Given the description of an element on the screen output the (x, y) to click on. 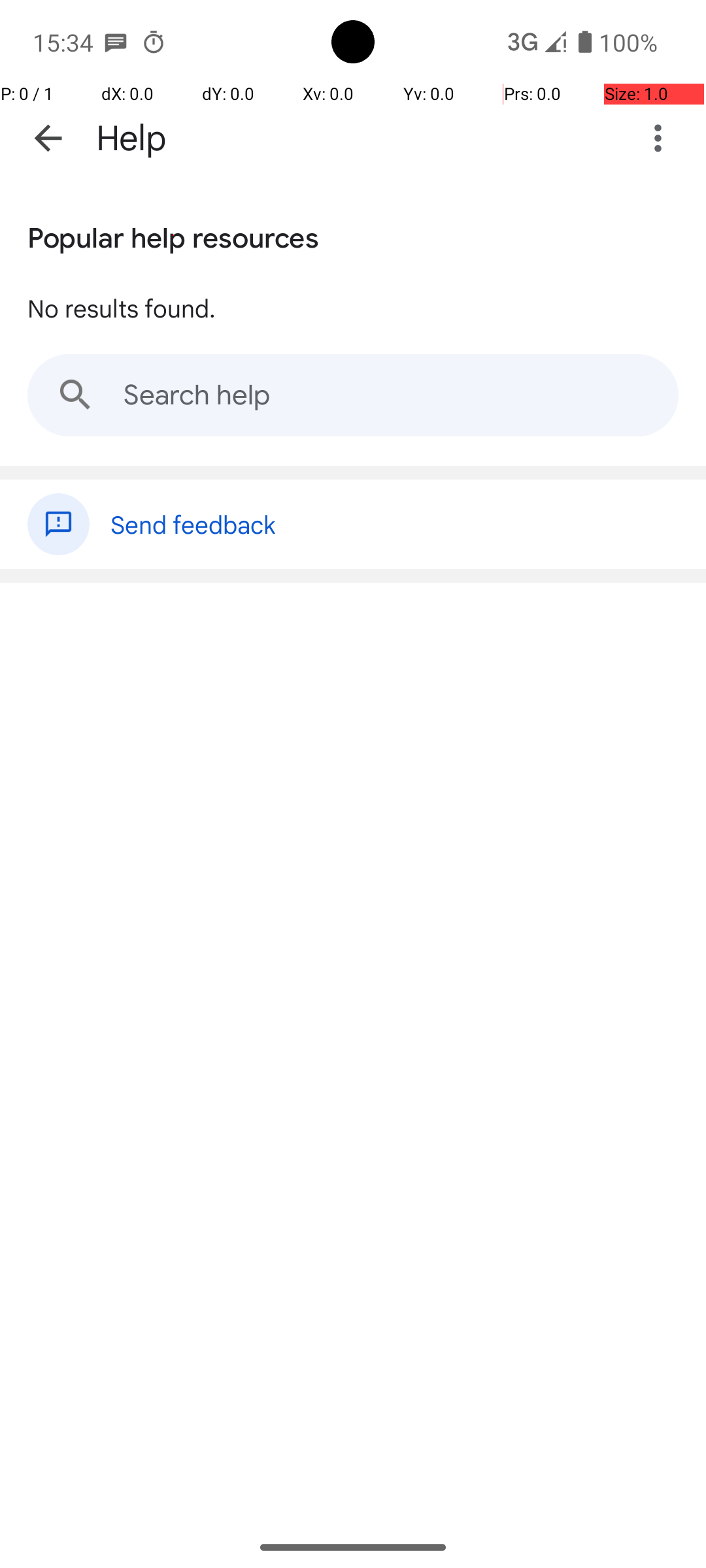
Popular help resources Element type: android.widget.TextView (173, 235)
Search help Element type: androidx.cardview.widget.CardView (352, 395)
No results found. Element type: android.widget.TextView (121, 307)
